Given the description of an element on the screen output the (x, y) to click on. 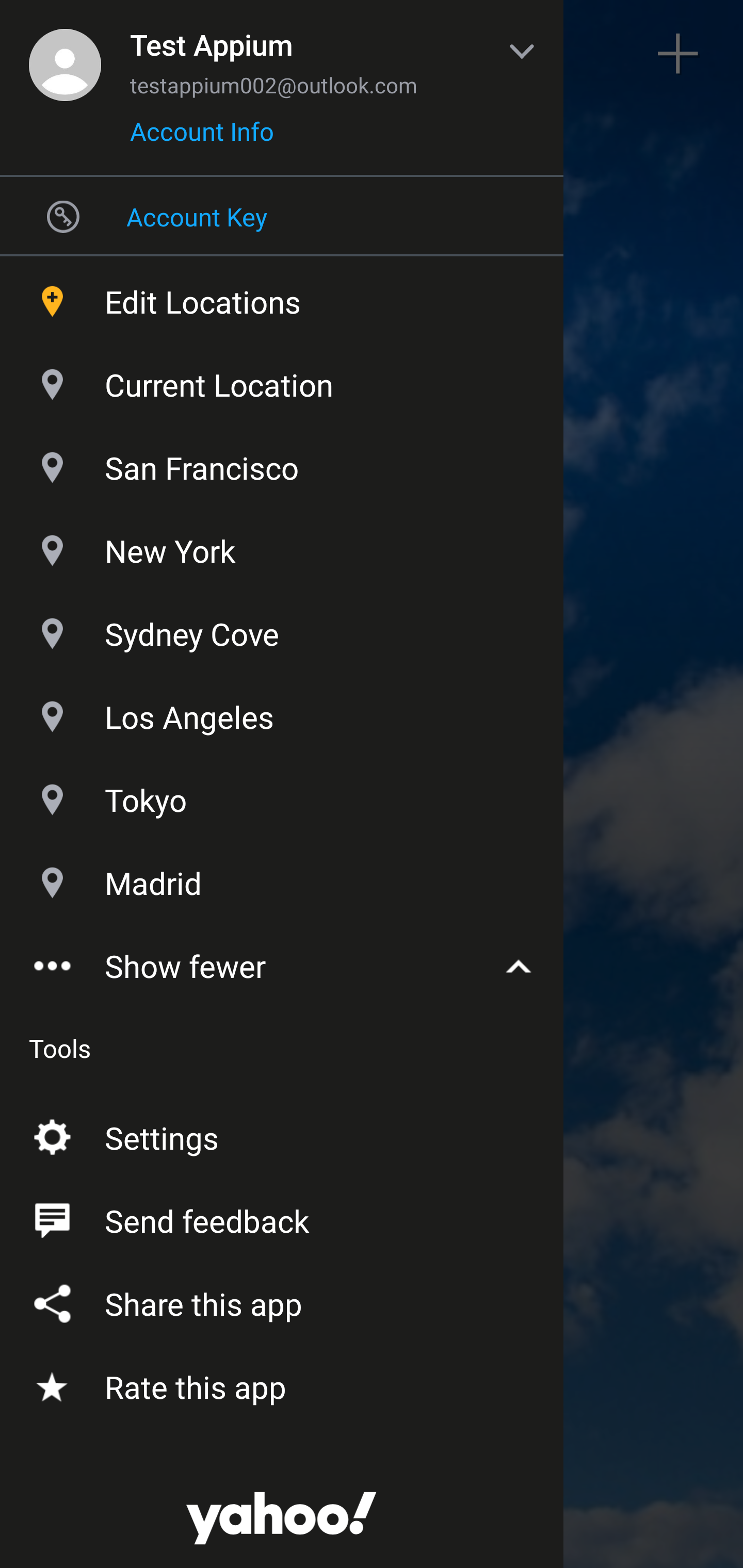
Sidebar (64, 54)
Account Info (202, 137)
Account Key (281, 216)
Edit Locations (281, 296)
Current Location (281, 379)
San Francisco (281, 462)
New York (281, 546)
Sydney Cove (281, 629)
Los Angeles (281, 712)
Tokyo (281, 795)
Madrid (281, 878)
Settings (281, 1134)
Send feedback (281, 1217)
Share this app (281, 1300)
App logo (281, 1496)
